Given the description of an element on the screen output the (x, y) to click on. 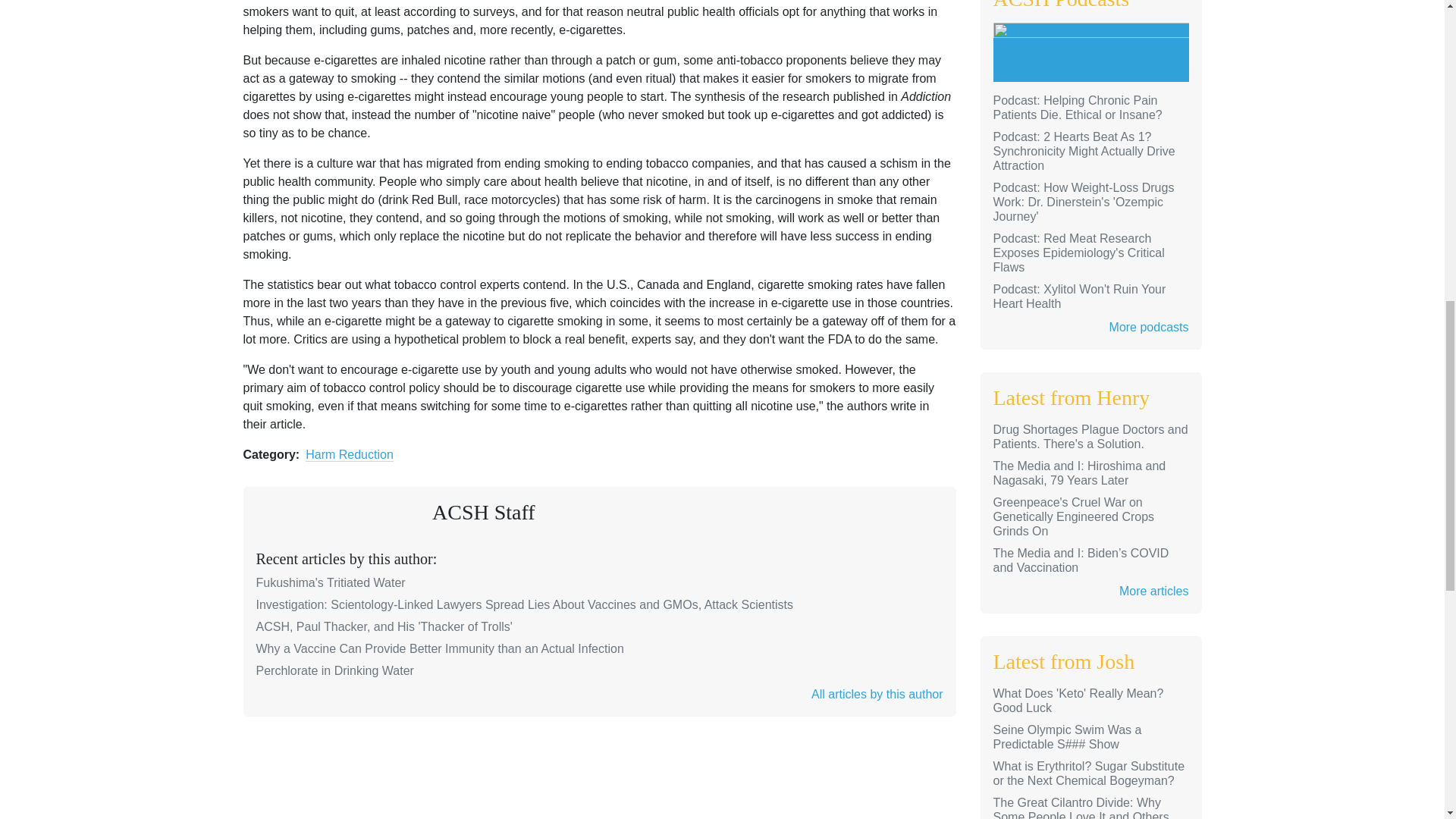
ACSH, Paul Thacker, and His 'Thacker of Trolls' (384, 626)
Fukushima's Tritiated Water (331, 582)
ACSH Staff (483, 512)
Harm Reduction (349, 454)
